Given the description of an element on the screen output the (x, y) to click on. 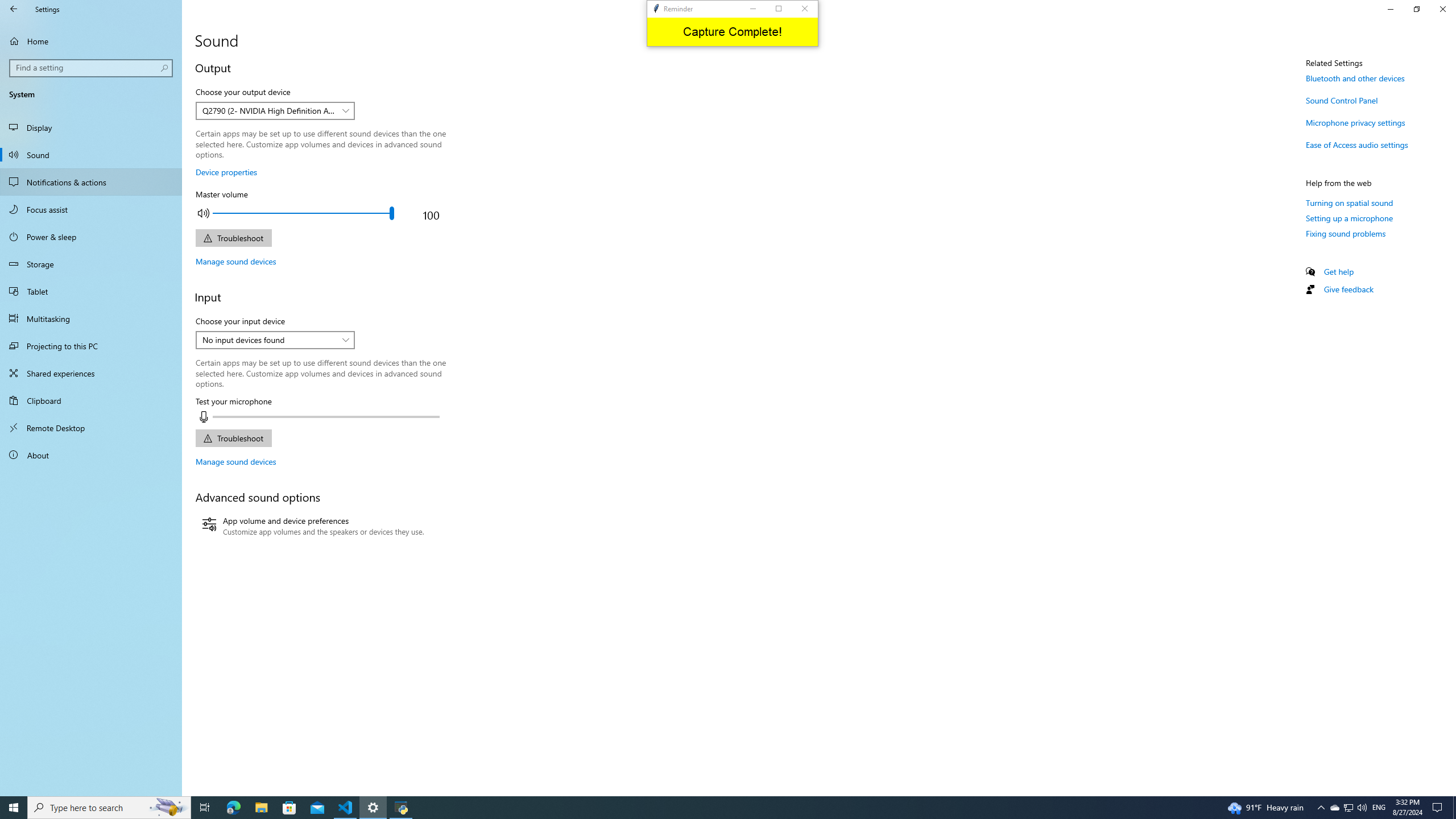
Device properties (226, 171)
Choose your input device (275, 339)
App volume and device preferences (312, 526)
Setting up a microphone (1349, 217)
Projecting to this PC (91, 345)
Display (91, 126)
Multitasking (91, 318)
Turning on spatial sound (1349, 202)
